Given the description of an element on the screen output the (x, y) to click on. 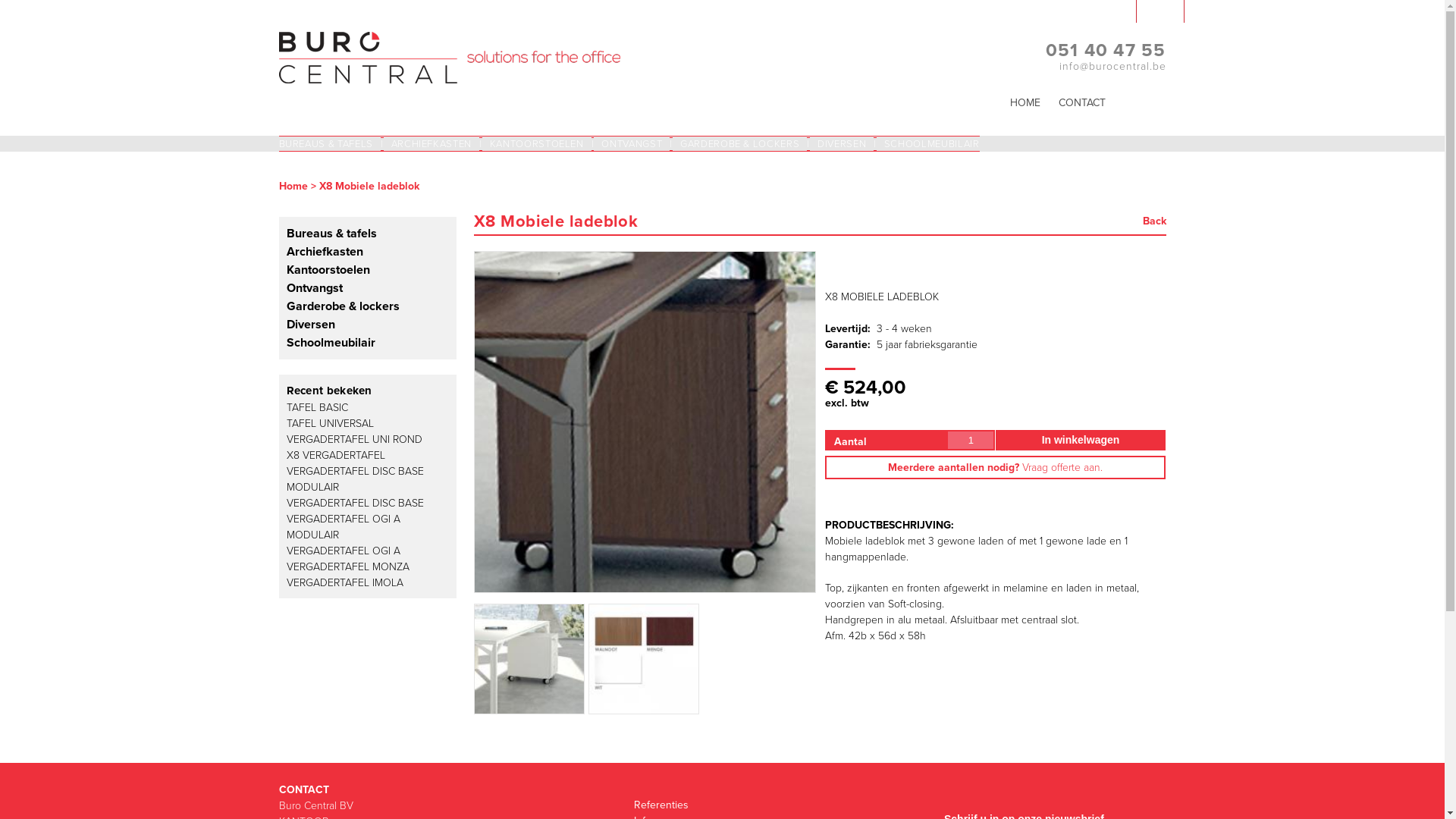
Bureaus & tafels Element type: text (331, 233)
VERGADERTAFEL DISC BASE Element type: text (354, 501)
Diversen Element type: text (310, 324)
VERGADERTAFEL IMOLA Element type: text (344, 582)
X8 VERGADERTAFEL Element type: text (335, 454)
TAFEL BASIC Element type: text (317, 406)
ONTVANGST Element type: text (632, 143)
versturen Element type: text (461, 571)
ACTIES Element type: text (1145, 133)
VERGADERTAFEL MONZA Element type: text (347, 565)
WINKELWAGEN Element type: text (1037, 10)
BUROcentral | Kantoormeubelen Element type: hover (449, 75)
GARDEROBE & LOCKERS Element type: text (740, 143)
TAFEL UNIVERSAL Element type: text (329, 423)
BUREAUS & TAFELS Element type: text (331, 143)
Meerdere aantallen nodig? Vraag offerte aan. Element type: text (994, 466)
In winkelwagen Element type: text (1079, 439)
LOGIN Element type: text (1159, 11)
Back Element type: text (1153, 221)
Overslaan en naar de algemene inhoud gaan Element type: text (697, 1)
VERGADERTAFEL OGI A Element type: text (343, 550)
HOME Element type: text (1025, 102)
VERGADERTAFEL OGI A MODULAIR Element type: text (343, 526)
Home Element type: text (293, 185)
Referenties Element type: text (660, 804)
Ontvangst Element type: text (314, 287)
Archiefkasten Element type: text (324, 251)
ARCHIEFKASTEN Element type: text (432, 143)
CONTACT Element type: text (304, 789)
info@burocentral.be Element type: text (1112, 65)
SCHOOLMEUBILAIR Element type: text (927, 143)
CONTACT Element type: text (1081, 102)
Garderobe & lockers Element type: text (342, 305)
VERGADERTAFEL DISC BASE MODULAIR Element type: text (354, 478)
VERGADERTAFEL UNI ROND Element type: text (354, 438)
Kantoorstoelen Element type: text (328, 269)
KANTOORSTOELEN Element type: text (538, 143)
Schoolmeubilair Element type: text (330, 342)
DIVERSEN Element type: text (842, 143)
